Given the description of an element on the screen output the (x, y) to click on. 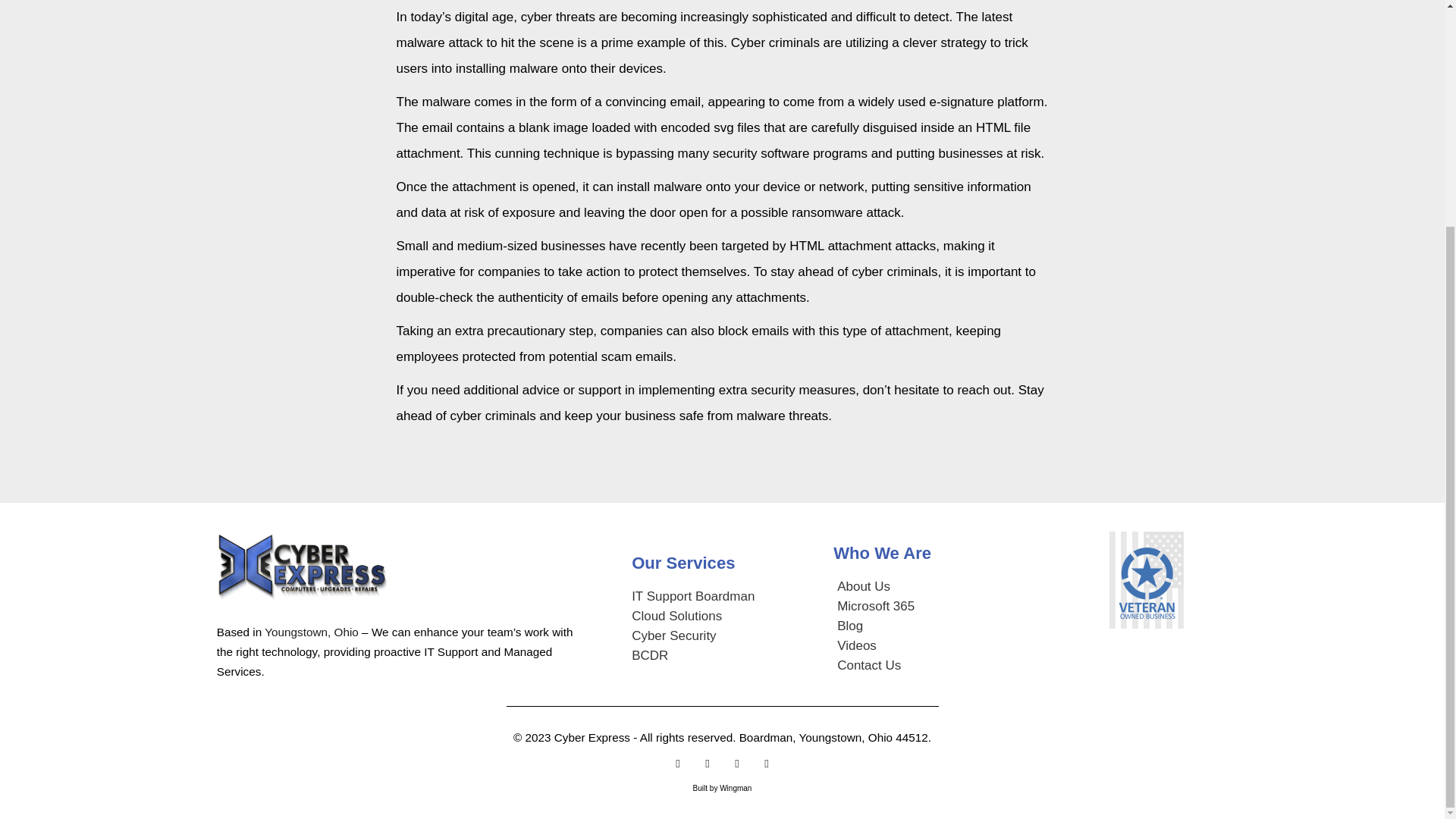
Cyber Security (731, 636)
About Us (948, 587)
Blog (948, 626)
Videos (948, 646)
IT Support Boardman (731, 596)
Microsoft 365 (948, 606)
Youngstown, Ohio (311, 631)
Contact Us (948, 665)
Cloud Solutions (731, 616)
BCDR (731, 655)
